Given the description of an element on the screen output the (x, y) to click on. 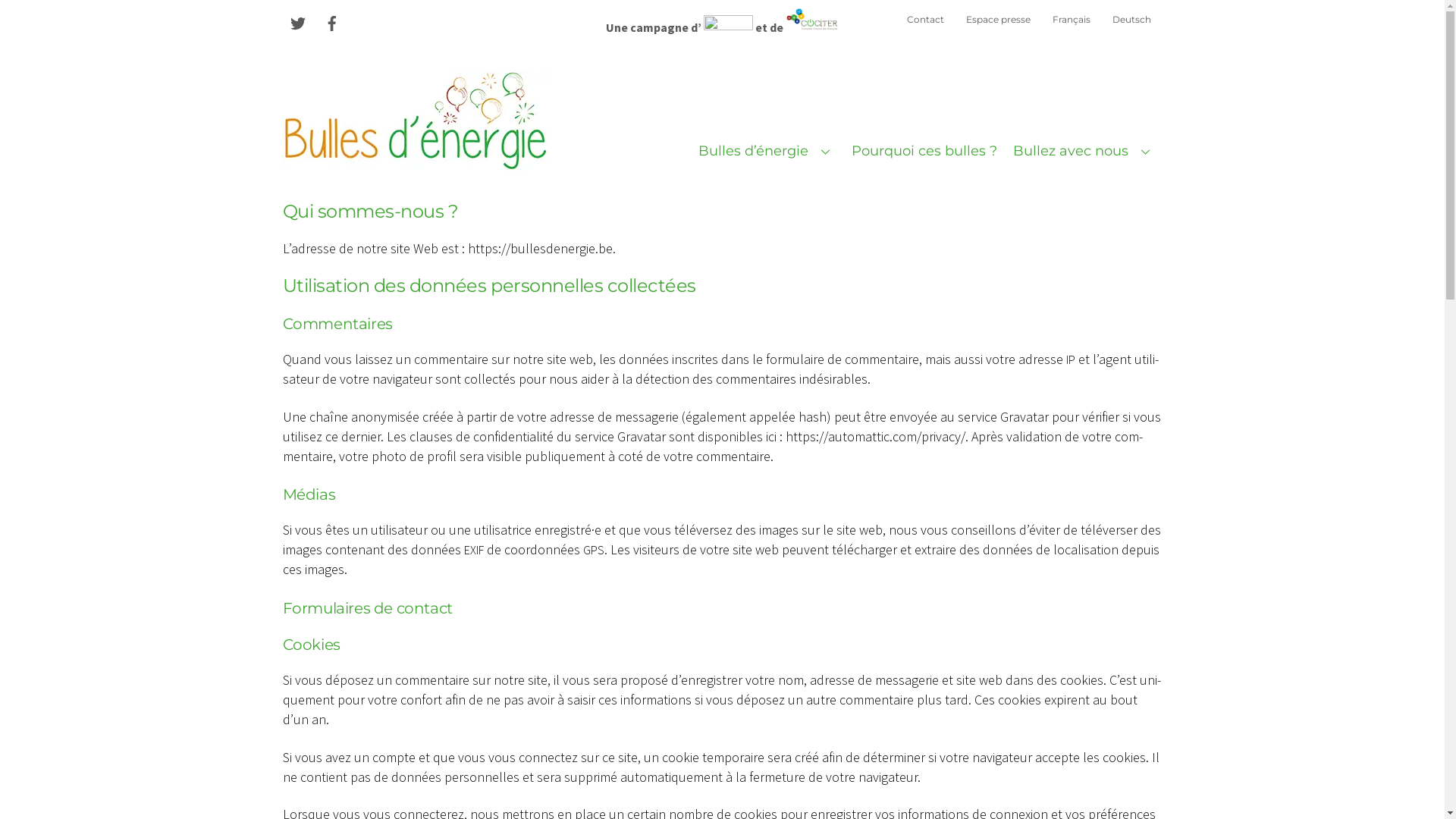
Pourquoi ces bulles ? Element type: text (924, 150)
Logo-bulles-denergie-01 Element type: hover (414, 120)
Bullez avec nous Element type: text (1083, 150)
Espace presse Element type: text (997, 19)
Contact Element type: text (924, 19)
Deutsch Element type: text (1131, 19)
Bulles d'Energie Element type: hover (414, 162)
